Given the description of an element on the screen output the (x, y) to click on. 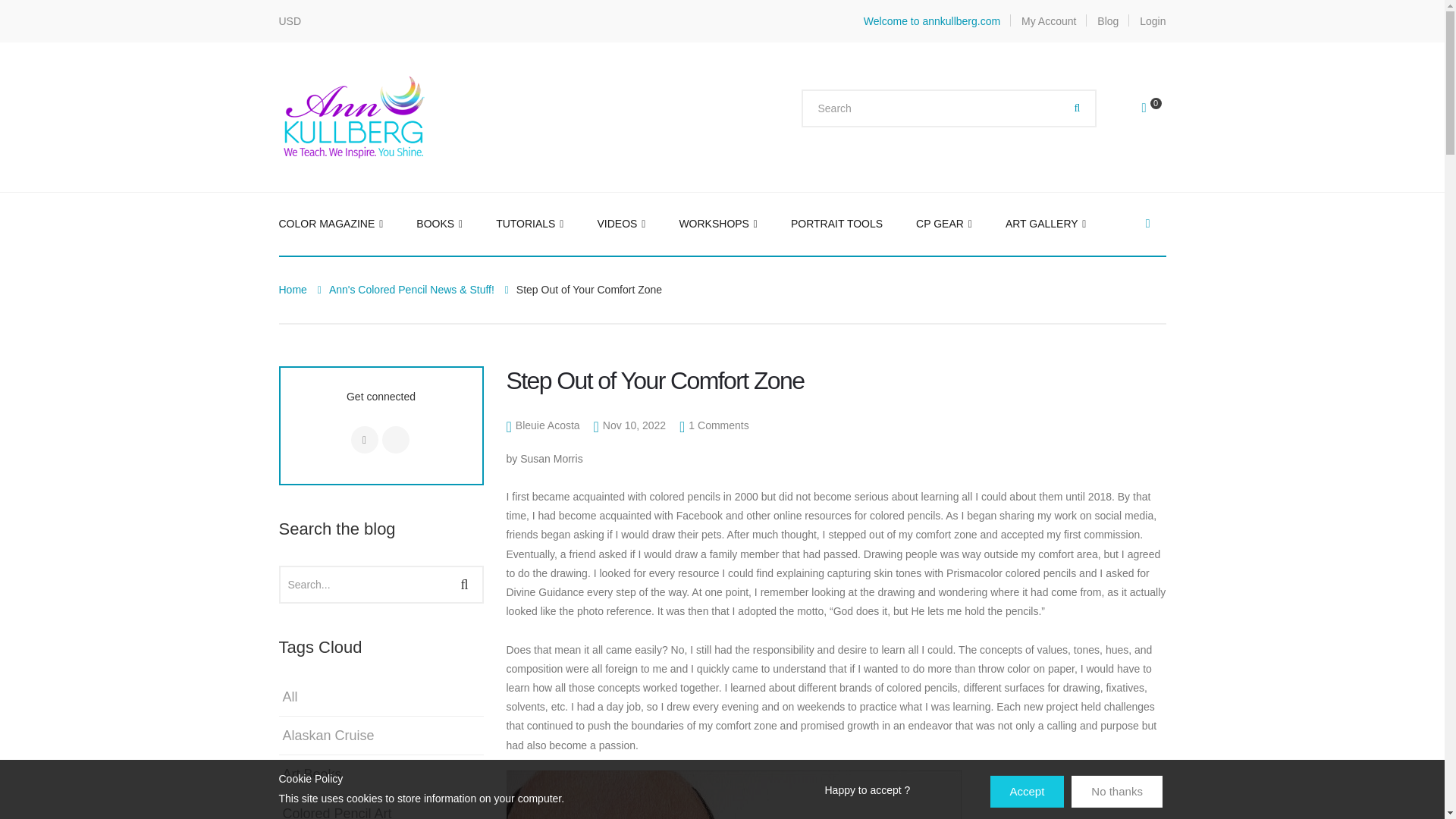
Pinterest (395, 439)
My Account (1048, 20)
Narrow search to articles also having tag Alaskan Cruise (326, 735)
annkullberg.com (354, 115)
Narrow search to articles also having tag art books (310, 774)
Login (1153, 20)
Narrow search to articles also having tag colored pencil art (335, 810)
Facebook (364, 439)
